Given the description of an element on the screen output the (x, y) to click on. 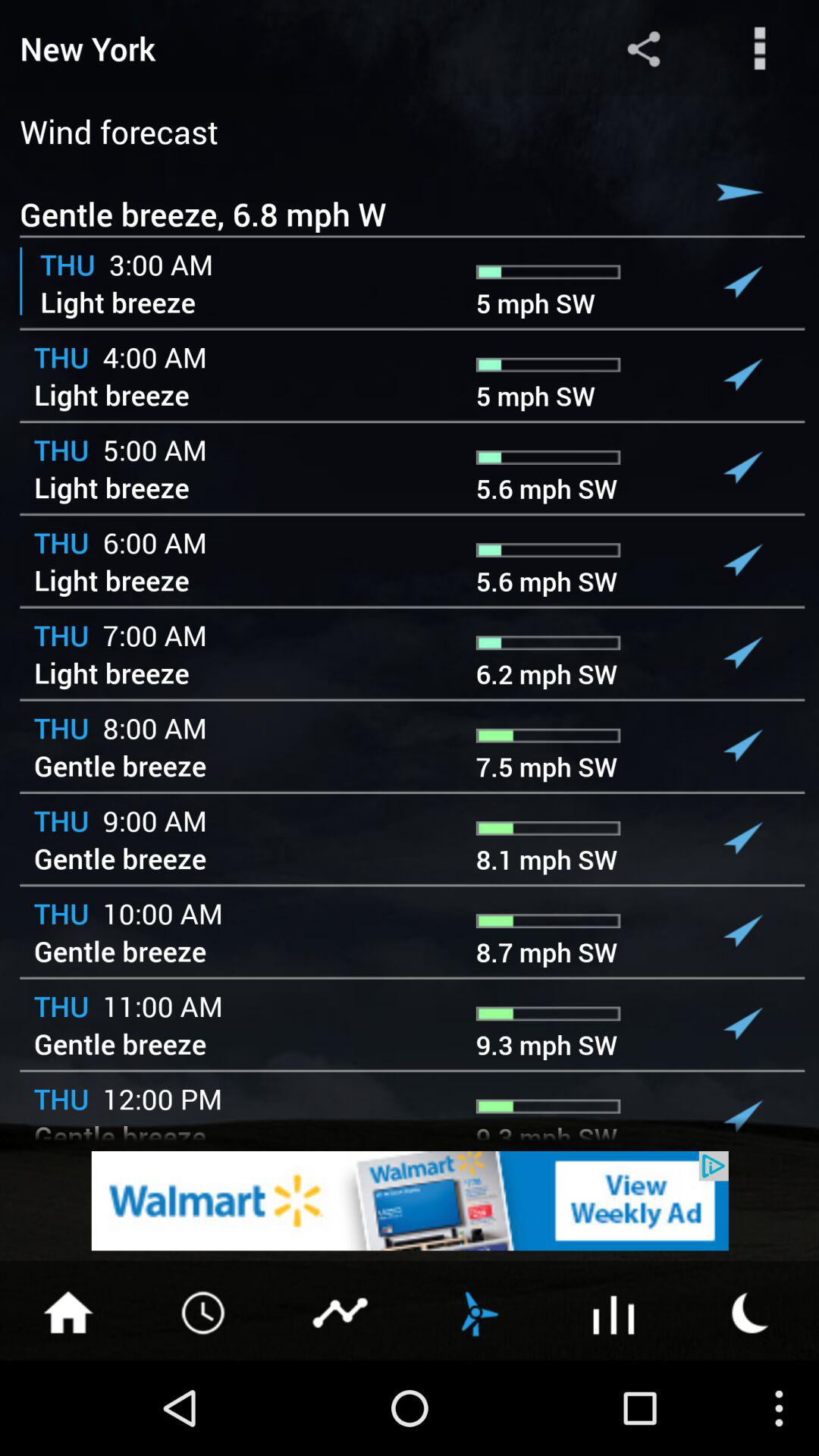
for weather (750, 1311)
